Given the description of an element on the screen output the (x, y) to click on. 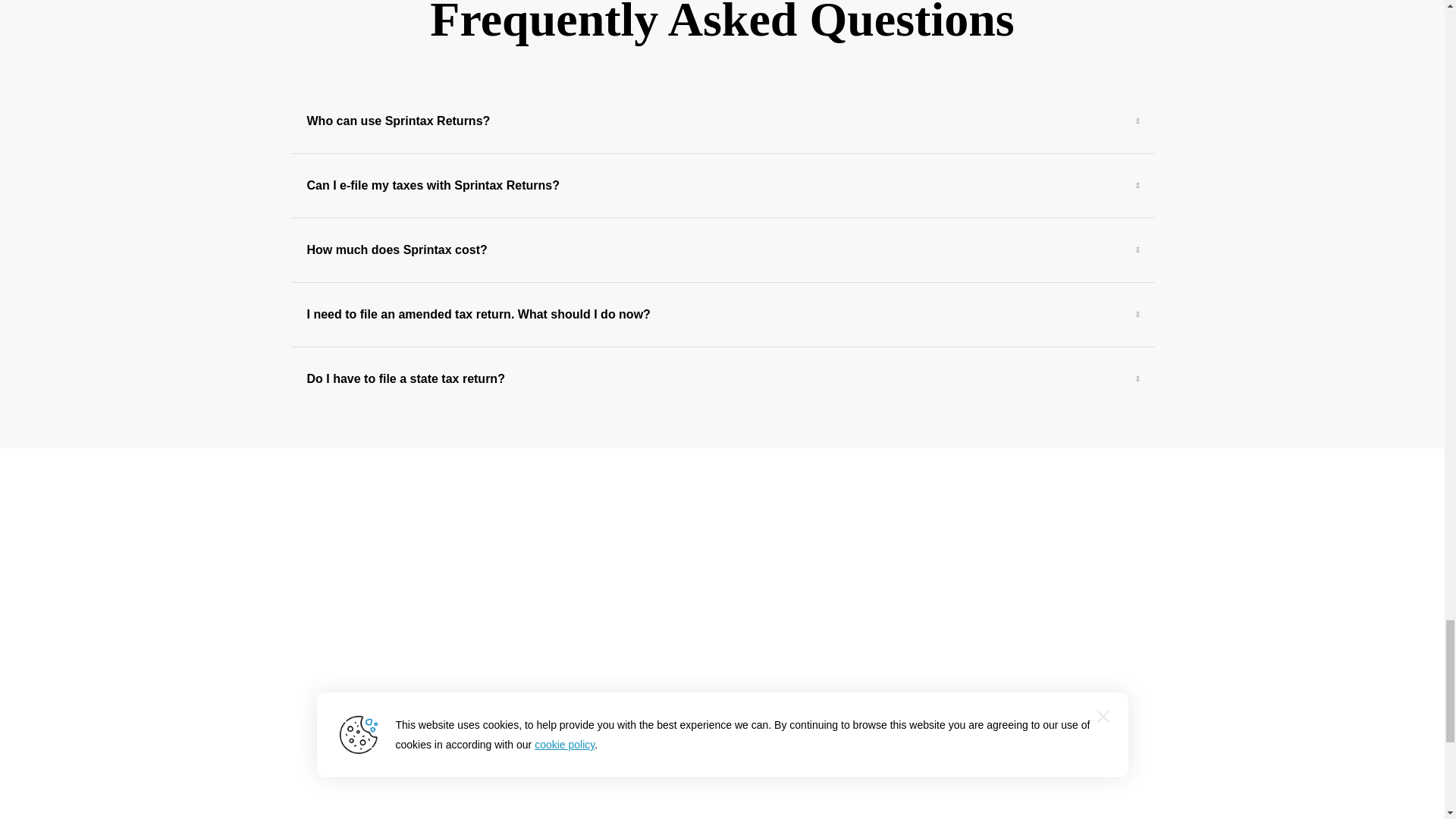
Who can use Sprintax Returns? (722, 121)
I need to file an amended tax return. What should I do now? (722, 314)
How much does Sprintax cost? (722, 249)
Do I have to file a state tax return? (722, 379)
Can I e-file my taxes with Sprintax Returns? (722, 185)
Create Your Account (721, 732)
